Given the description of an element on the screen output the (x, y) to click on. 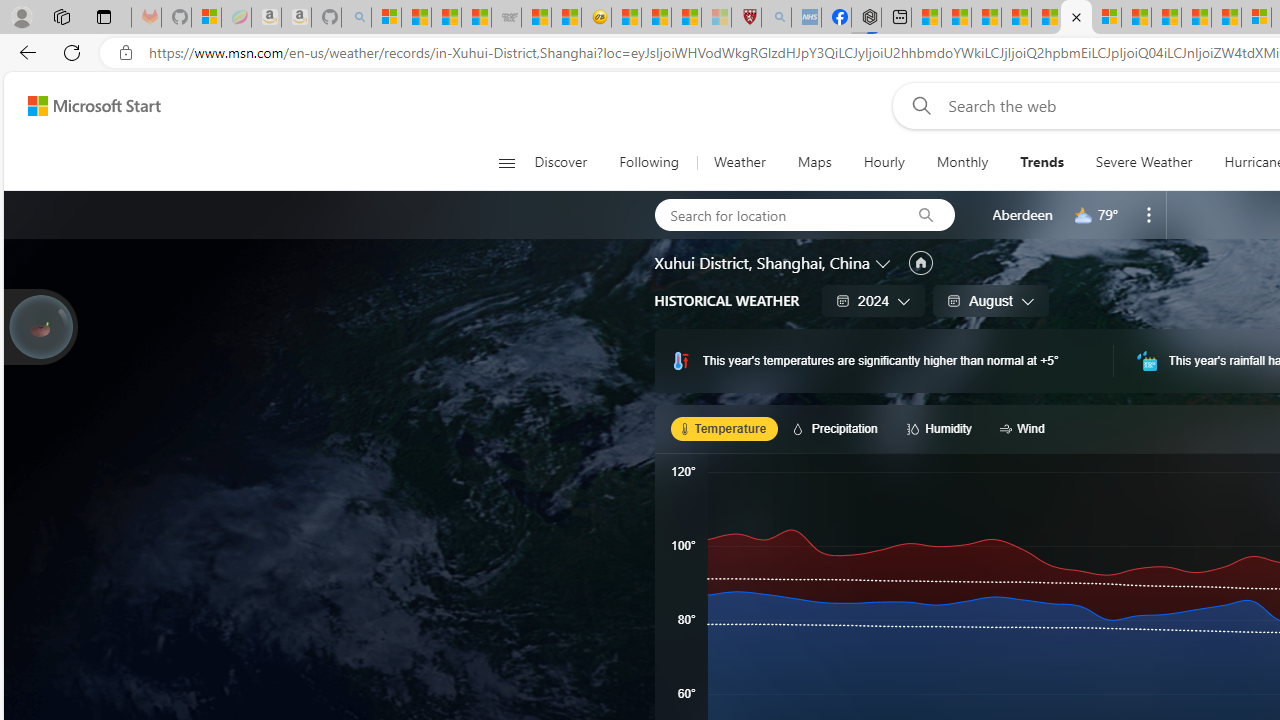
Trends (1041, 162)
Maps (814, 162)
Precipitation (838, 428)
